Given the description of an element on the screen output the (x, y) to click on. 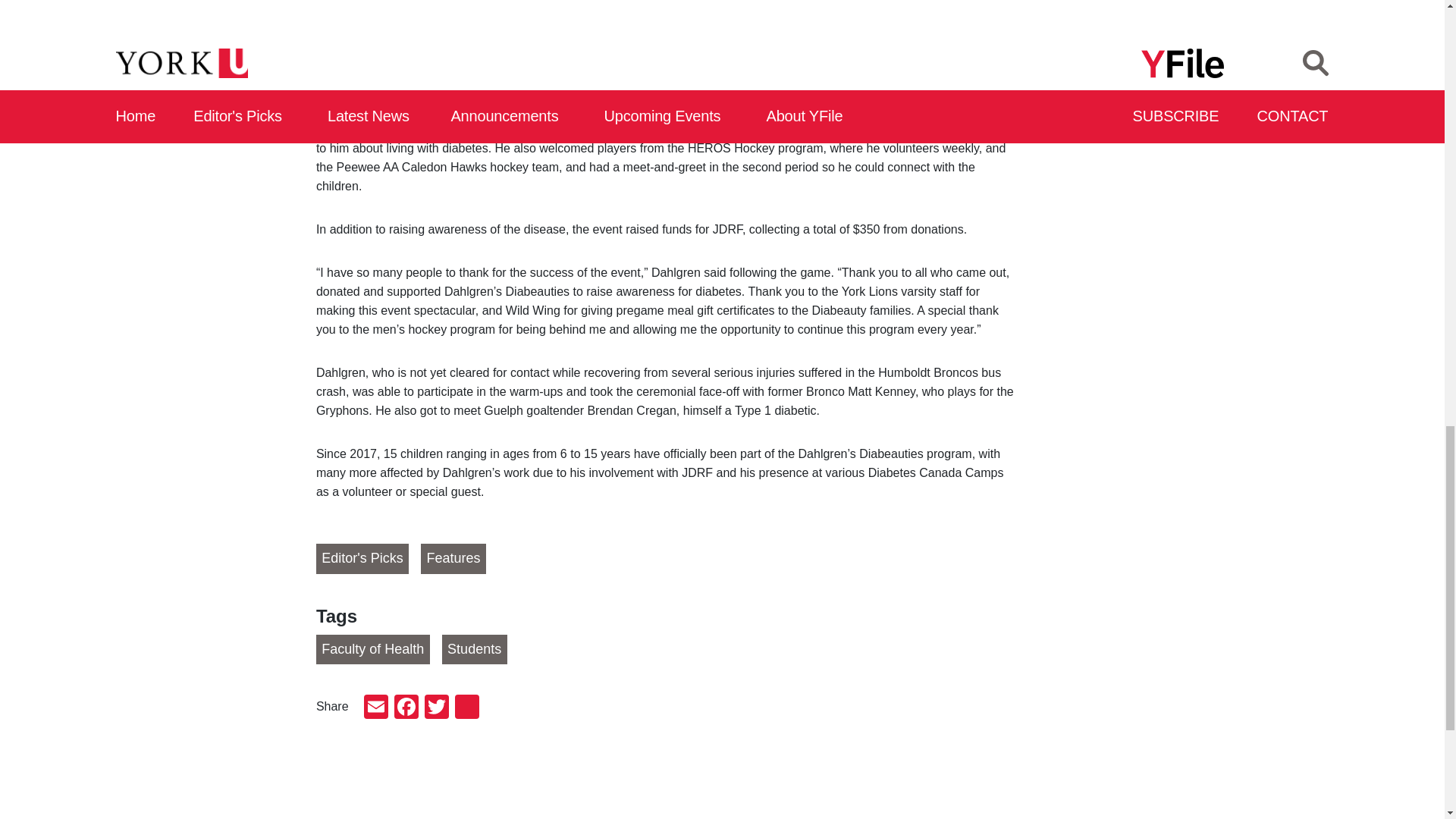
Facebook (406, 708)
LinkedIn (466, 708)
Students (474, 649)
Email (376, 708)
Editor's Picks (362, 558)
Features (453, 558)
Faculty of Health (372, 649)
Facebook (406, 708)
Twitter (436, 708)
Email (376, 708)
